Given the description of an element on the screen output the (x, y) to click on. 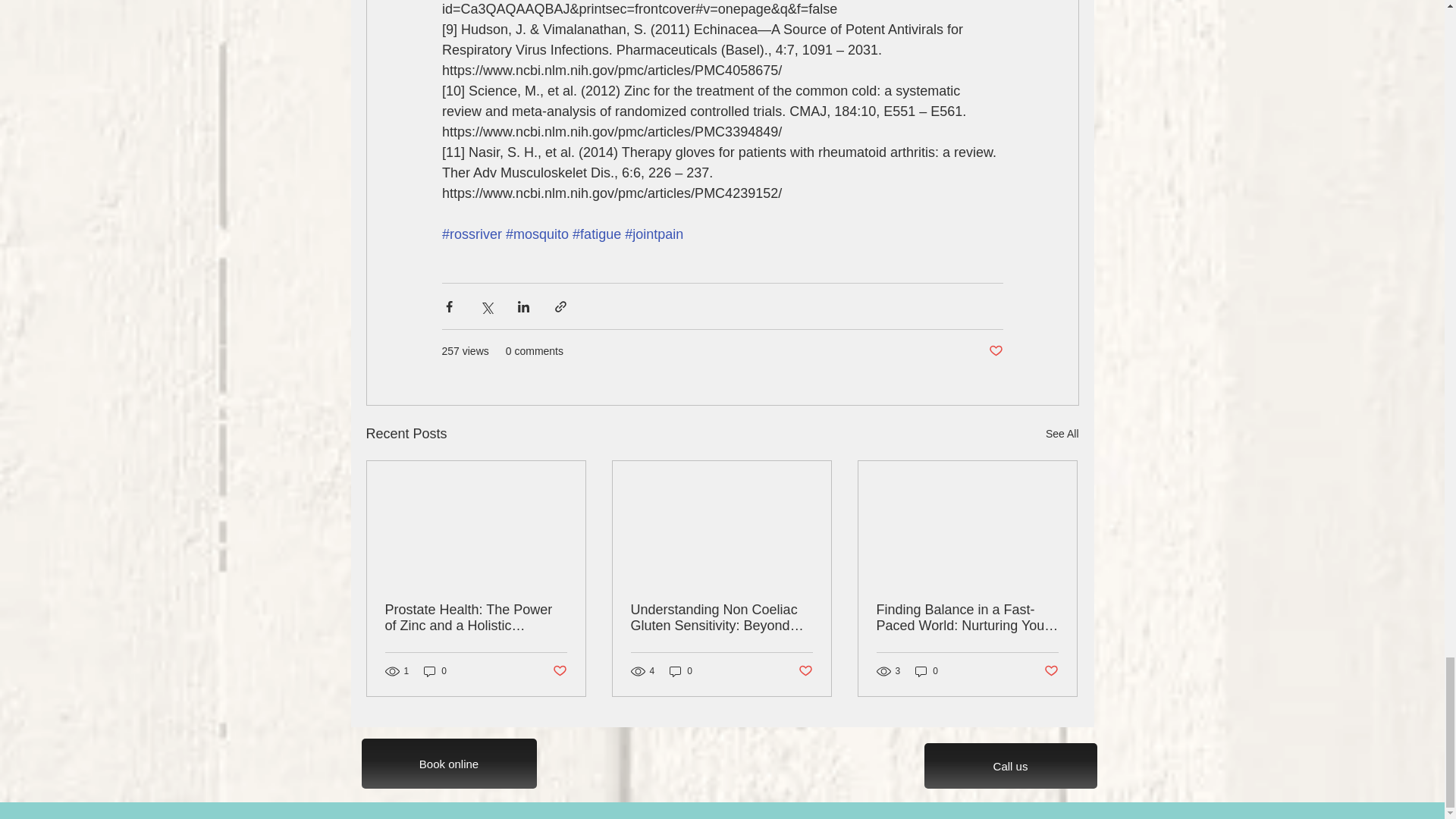
Post not marked as liked (1050, 670)
Call us (1009, 765)
Post not marked as liked (804, 670)
0 (926, 671)
0 (435, 671)
Post not marked as liked (558, 670)
Book online (448, 763)
Prostate Health: The Power of Zinc and a Holistic Approach (476, 617)
See All (1061, 434)
0 (681, 671)
Post not marked as liked (995, 351)
